Given the description of an element on the screen output the (x, y) to click on. 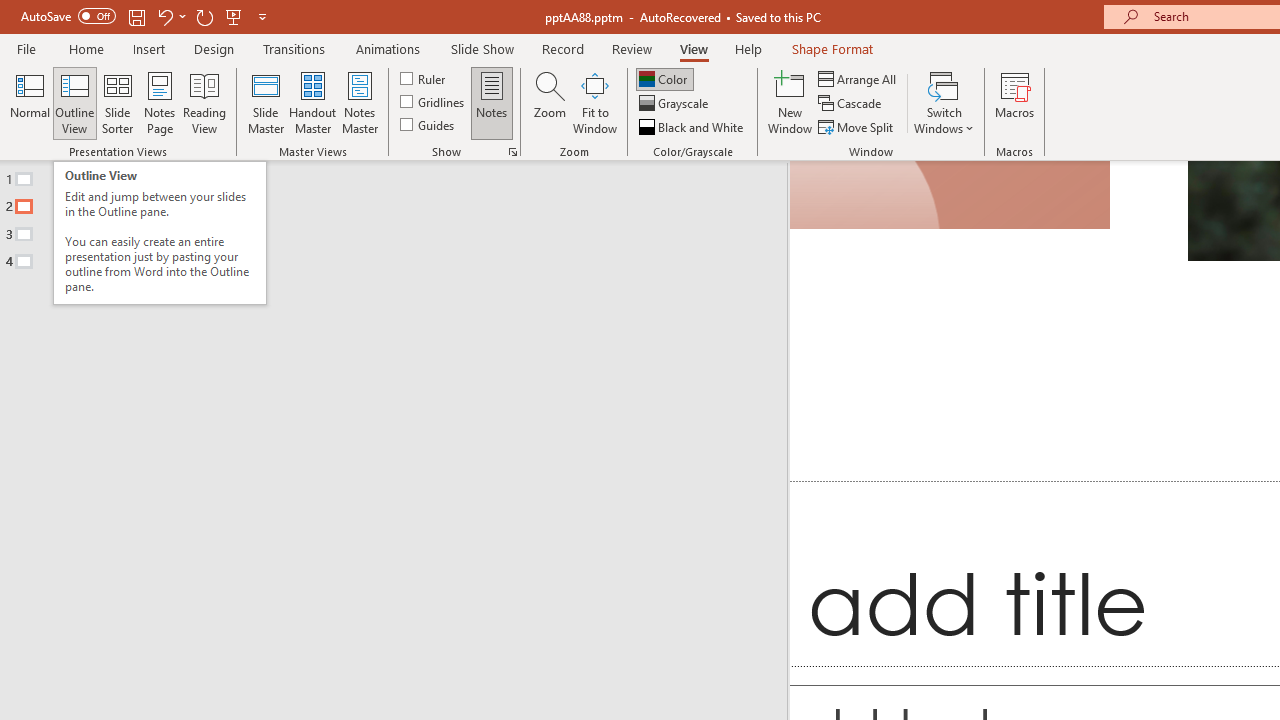
Move Split (857, 126)
Notes Master (360, 102)
New Window (790, 102)
Arrange All (858, 78)
Ruler (423, 78)
Slide Master (265, 102)
Zoom... (549, 102)
Guides (428, 124)
